Given the description of an element on the screen output the (x, y) to click on. 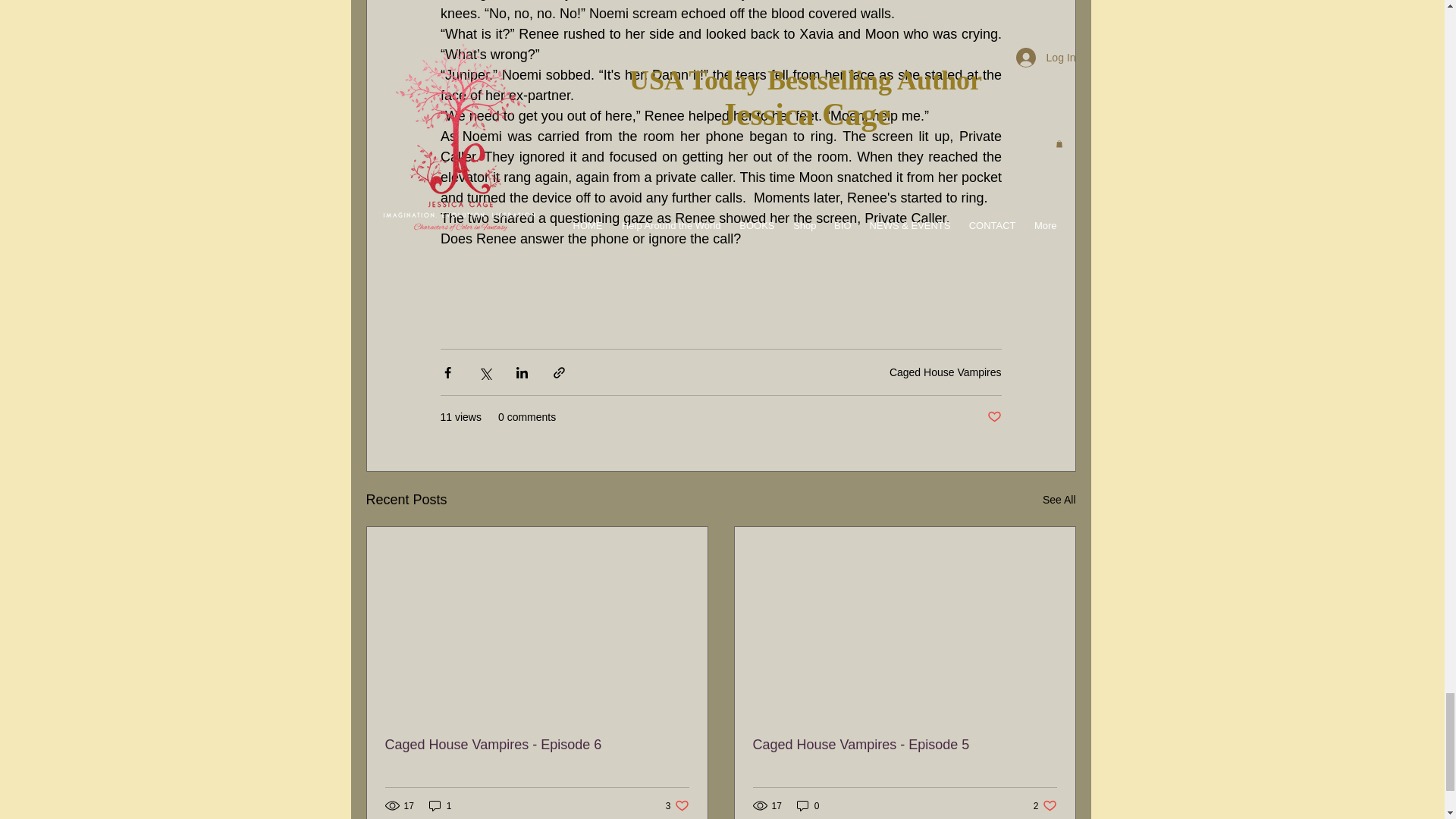
1 (440, 805)
See All (1058, 499)
Caged House Vampires - Episode 6 (676, 805)
Post not marked as liked (536, 744)
Caged House Vampires (994, 417)
